Given the description of an element on the screen output the (x, y) to click on. 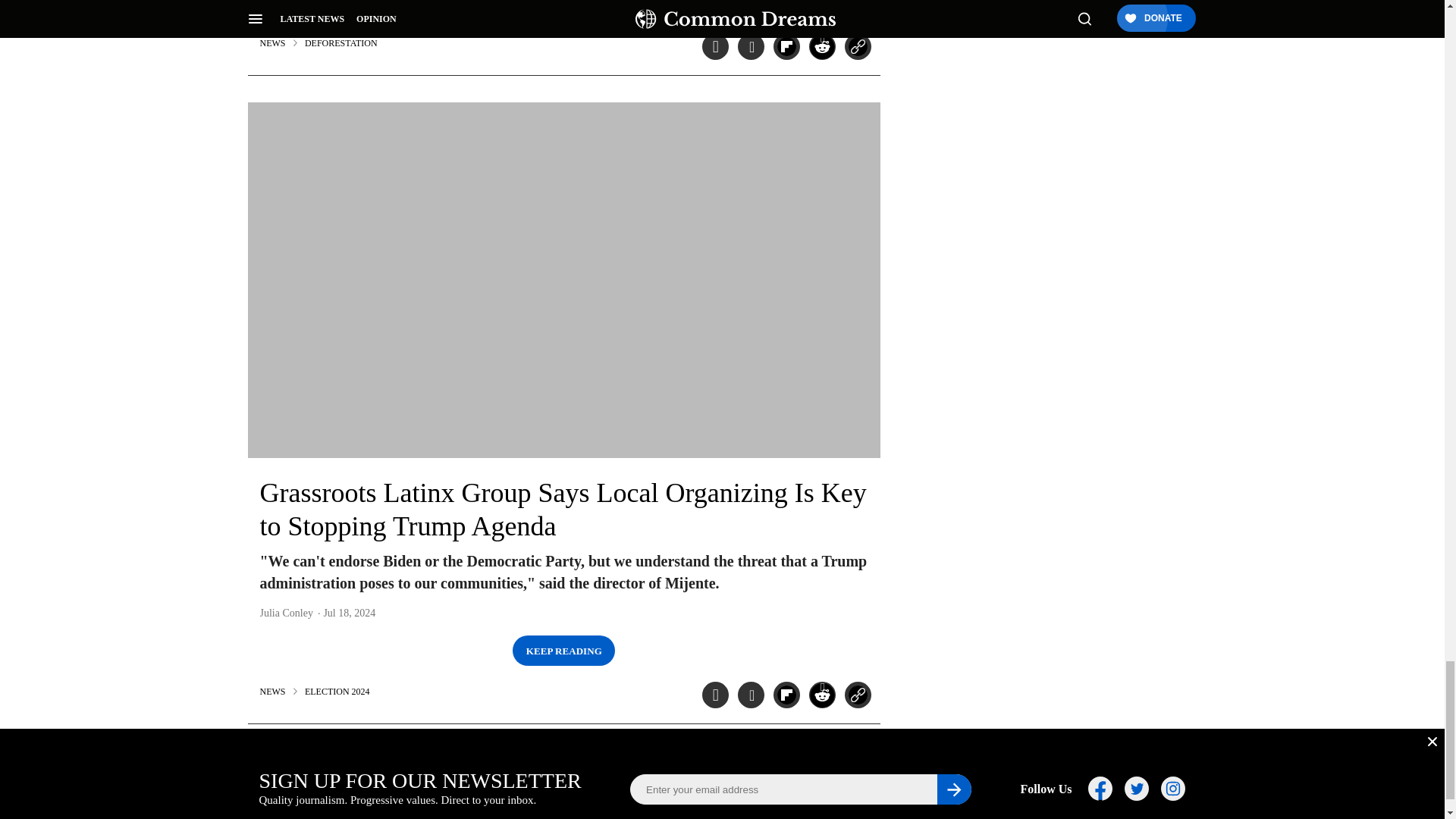
Copy this link to clipboard (857, 694)
Copy this link to clipboard (857, 46)
